Given the description of an element on the screen output the (x, y) to click on. 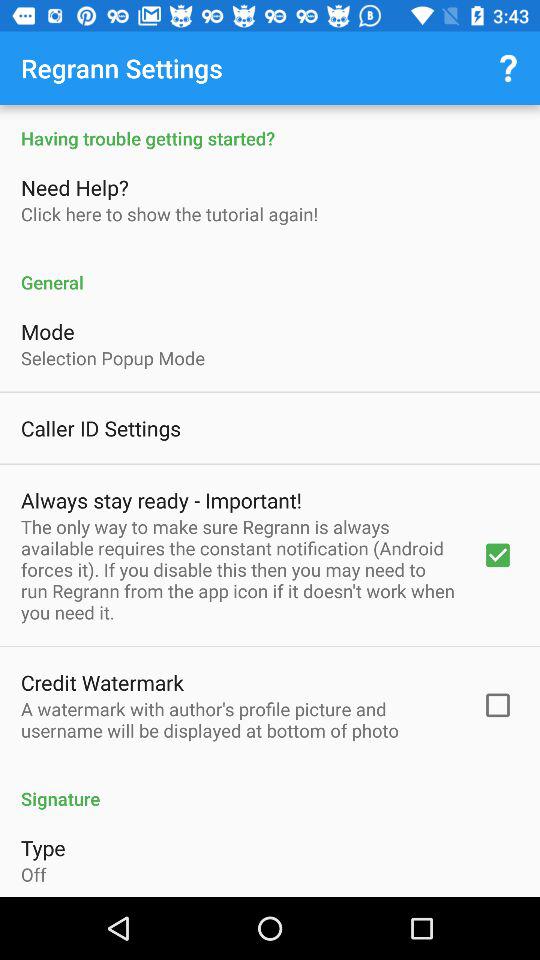
turn on need help?  icon (77, 187)
